Given the description of an element on the screen output the (x, y) to click on. 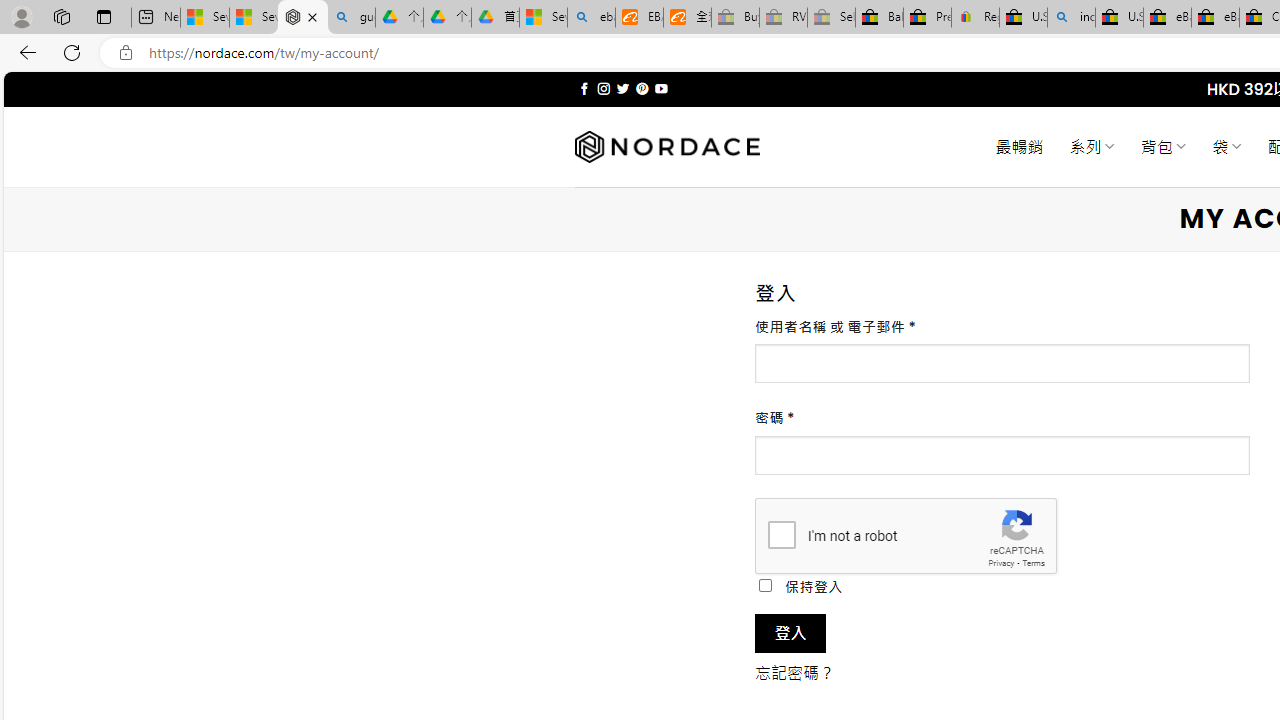
Privacy (1001, 562)
Sell worldwide with eBay - Sleeping (831, 17)
Follow on Instagram (603, 88)
including - Search (1071, 17)
